Given the description of an element on the screen output the (x, y) to click on. 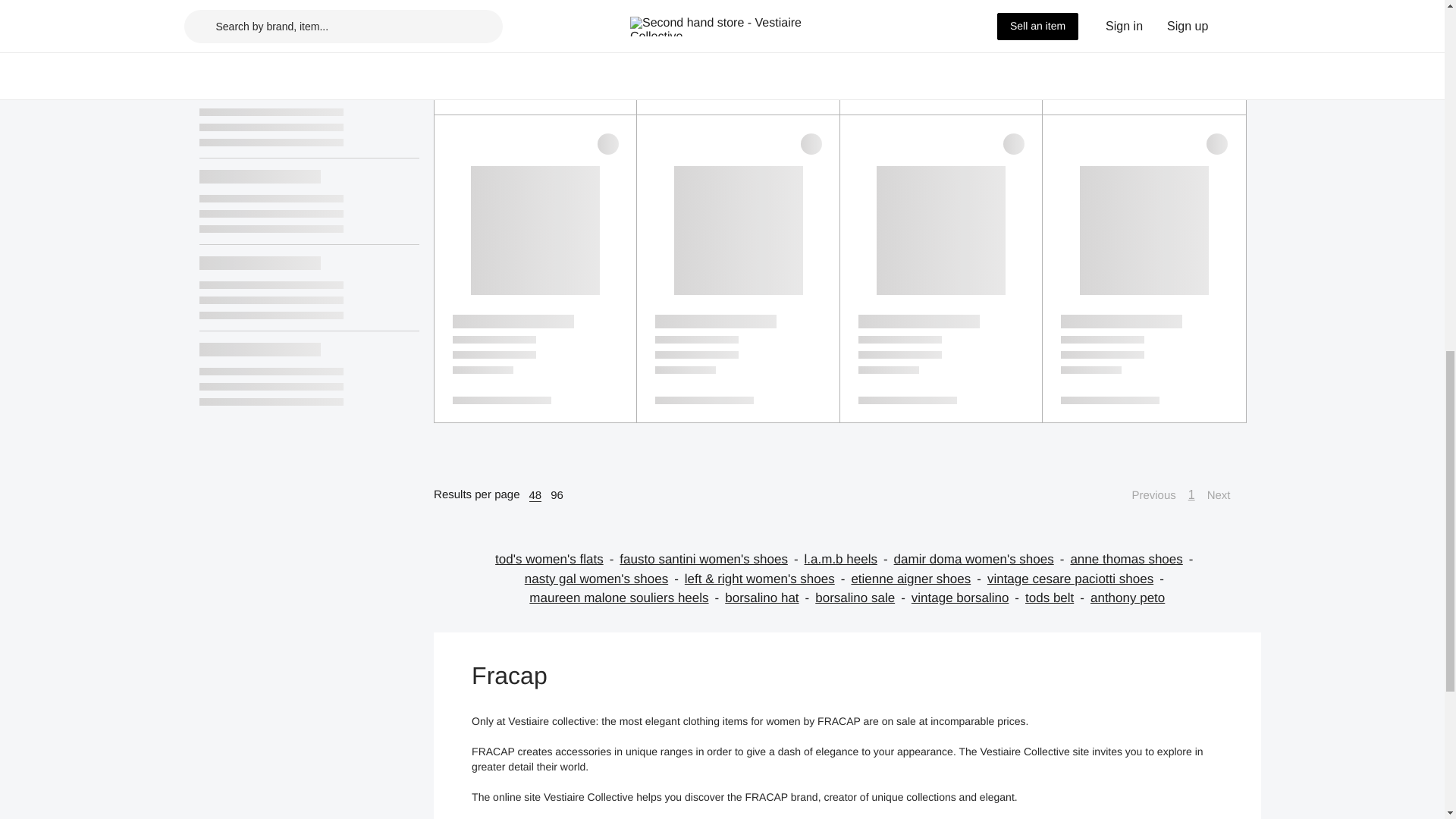
anne thomas shoes (1134, 559)
nasty gal women's shoes (604, 578)
l.a.m.b heels (849, 559)
fausto santini women's shoes (711, 559)
Next (1226, 495)
maureen malone souliers heels (627, 598)
tod's women's flats (557, 559)
anthony peto (1127, 598)
vintage borsalino (968, 598)
borsalino sale (863, 598)
